Given the description of an element on the screen output the (x, y) to click on. 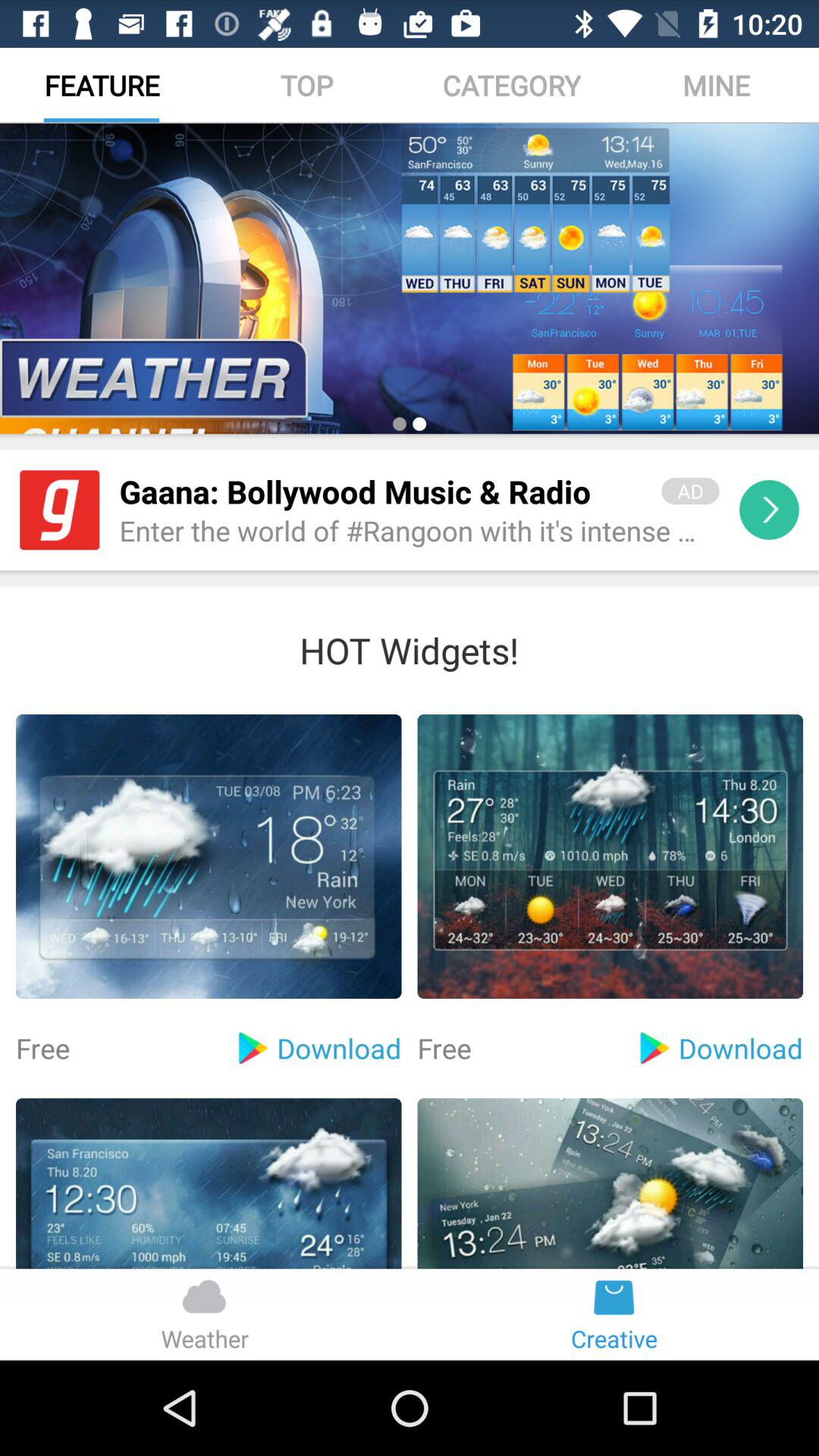
launch the icon next to the ad app (380, 491)
